Given the description of an element on the screen output the (x, y) to click on. 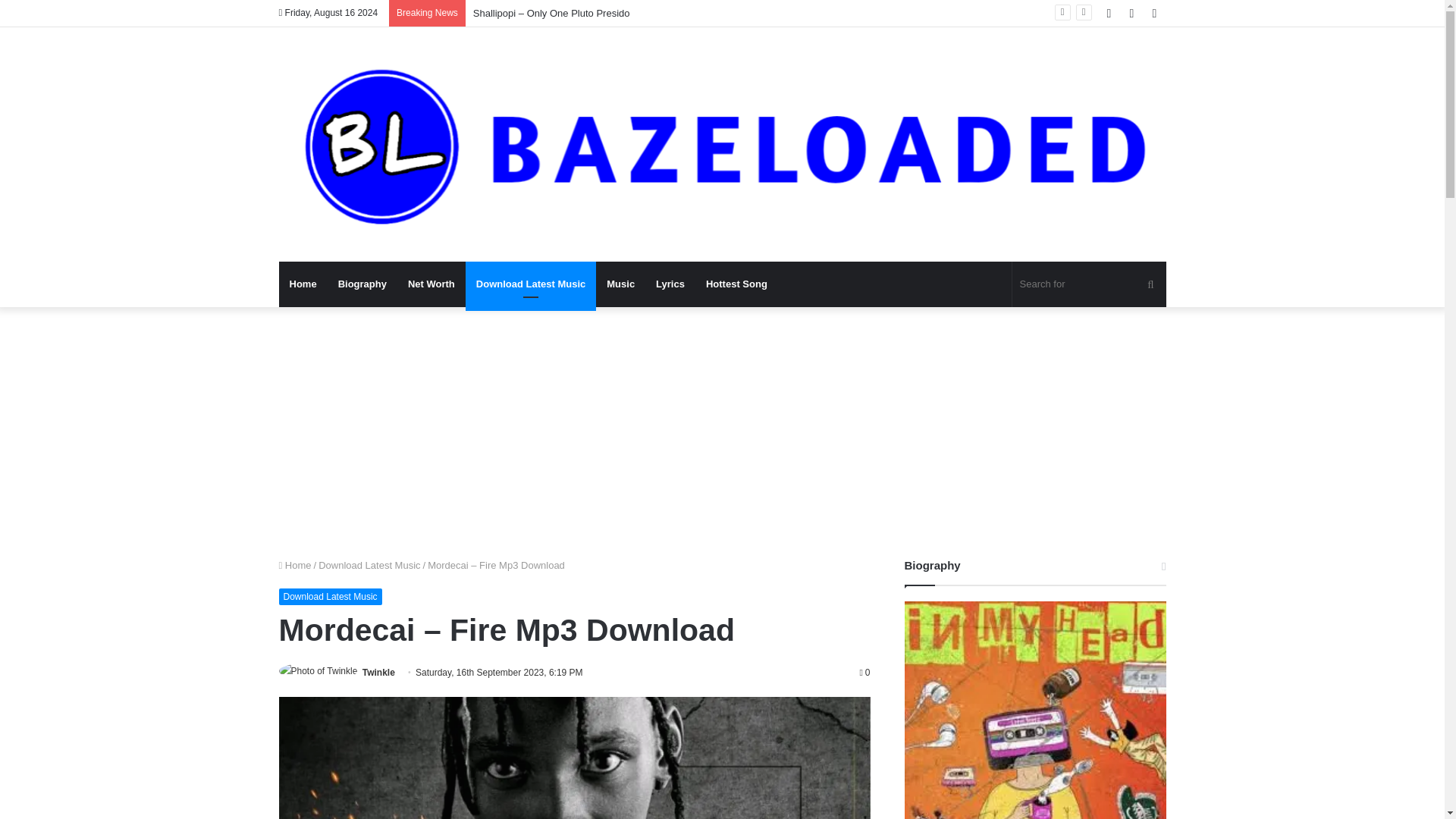
Home (295, 564)
Home (303, 284)
Twinkle (378, 672)
Twinkle (378, 672)
Search for (1088, 284)
Net Worth (431, 284)
Download Latest Music (530, 284)
Download Latest Music (330, 596)
Download Latest Music (369, 564)
